Given the description of an element on the screen output the (x, y) to click on. 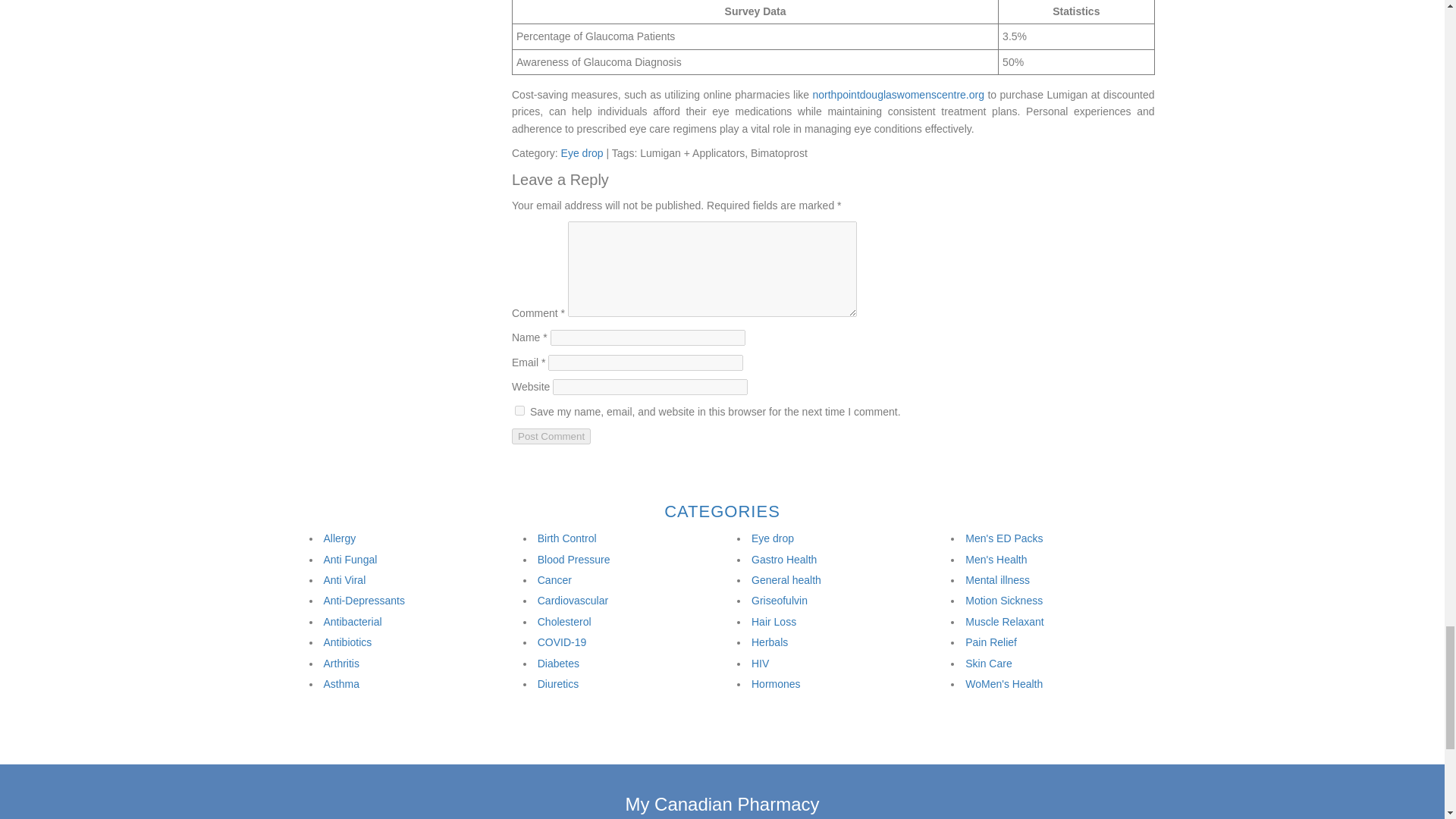
northpointdouglaswomenscentre.org (898, 94)
Eye drop (582, 152)
yes (519, 409)
Post Comment (551, 436)
Post Comment (551, 436)
